Given the description of an element on the screen output the (x, y) to click on. 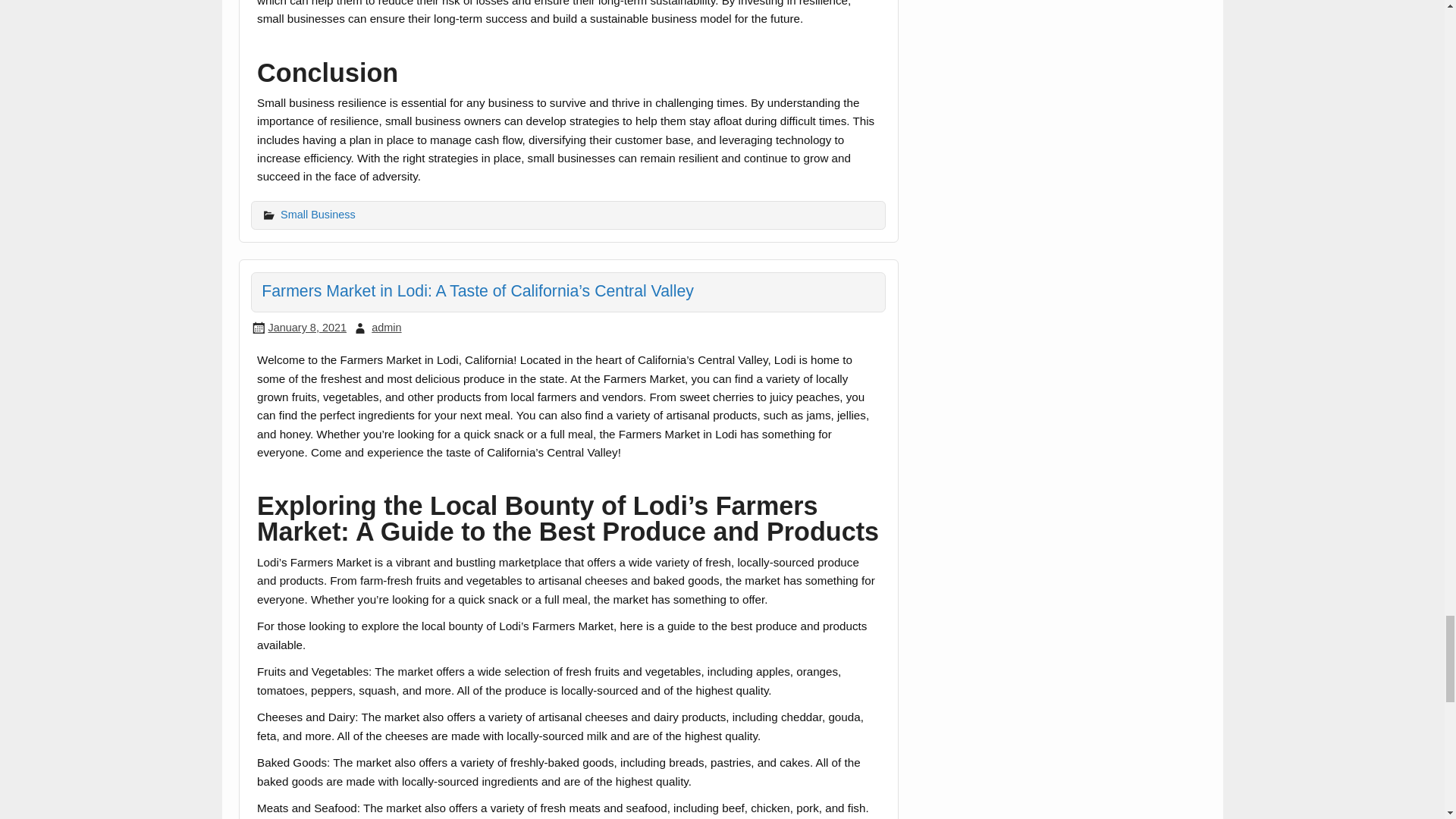
3:01 am (306, 327)
Small Business (318, 214)
View all posts by admin (386, 327)
admin (386, 327)
January 8, 2021 (306, 327)
